Given the description of an element on the screen output the (x, y) to click on. 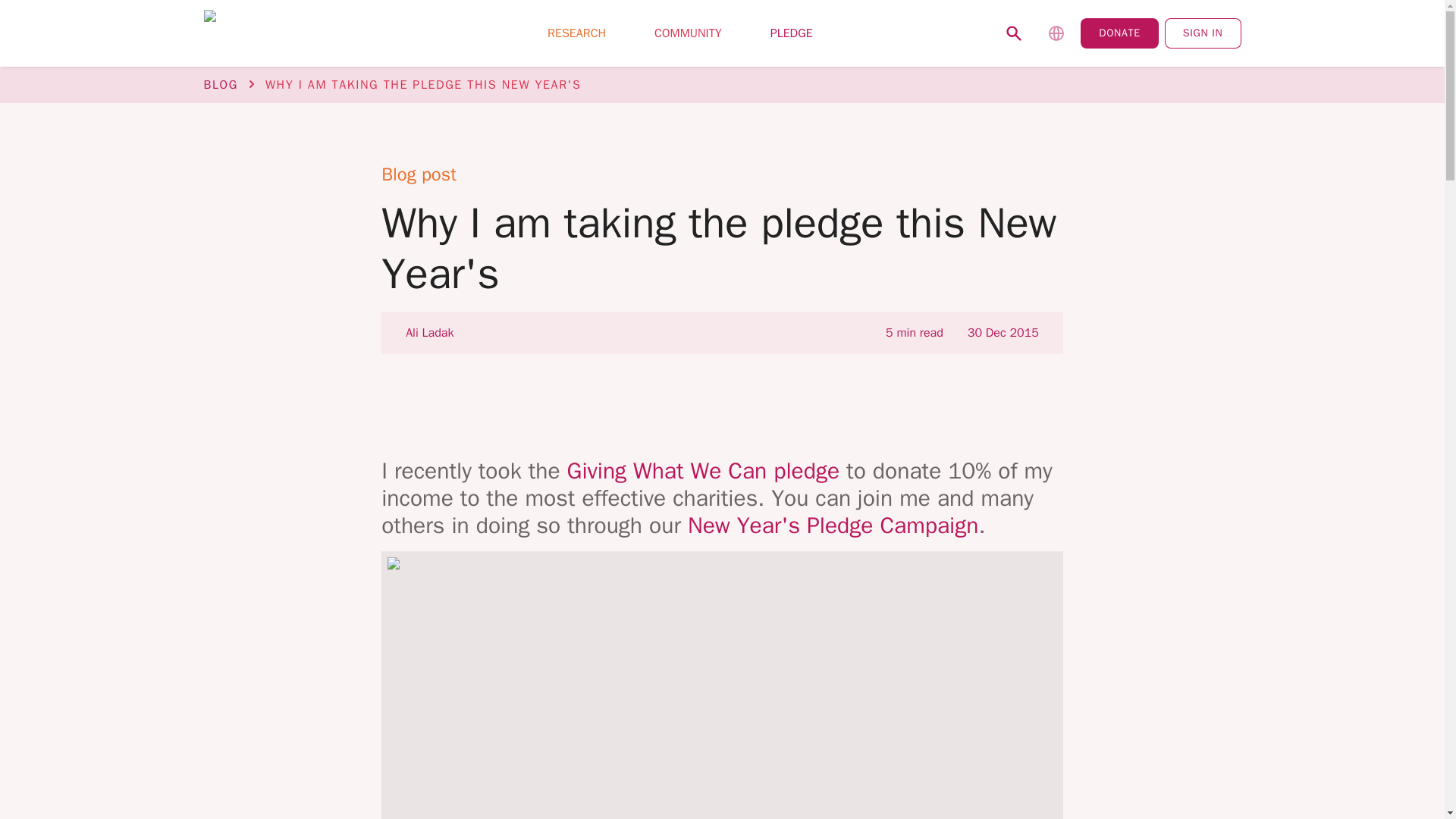
Ali Ladak (429, 332)
SIGN IN (1202, 33)
Search (1013, 33)
WHY I AM TAKING THE PLEDGE THIS NEW YEAR'S (422, 84)
PLEDGE (791, 33)
New Year's Pledge Campaign (832, 525)
DONATE (1119, 33)
Giving What We Can pledge (703, 470)
BLOG (220, 84)
COMMUNITY (687, 33)
RESEARCH (576, 33)
Locale menu (1056, 33)
